Given the description of an element on the screen output the (x, y) to click on. 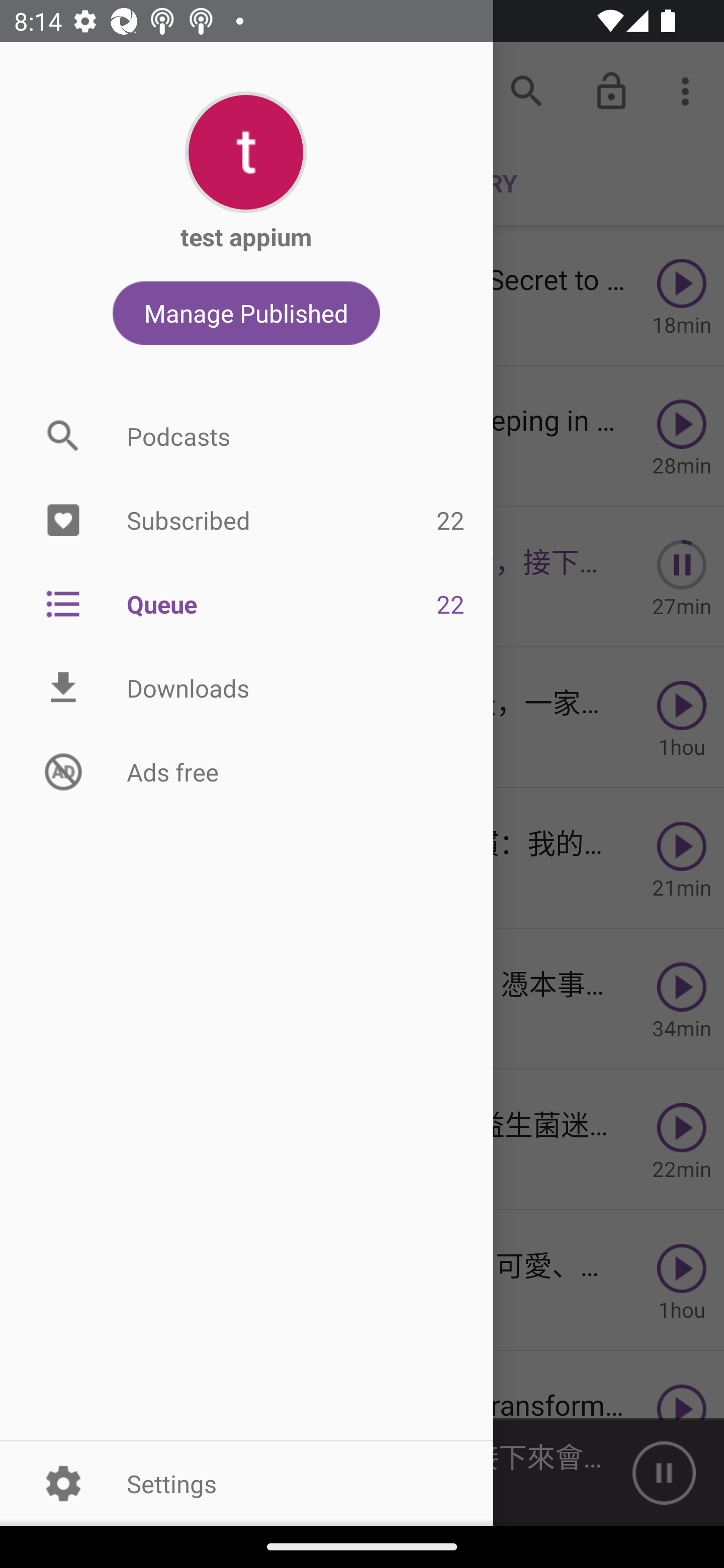
Manage Published (246, 312)
Picture Podcasts (246, 435)
Picture Subscribed 22 (246, 520)
Picture Queue 22 (246, 603)
Picture Downloads (246, 688)
Picture Ads free (246, 771)
Settings Picture Settings (246, 1482)
